Given the description of an element on the screen output the (x, y) to click on. 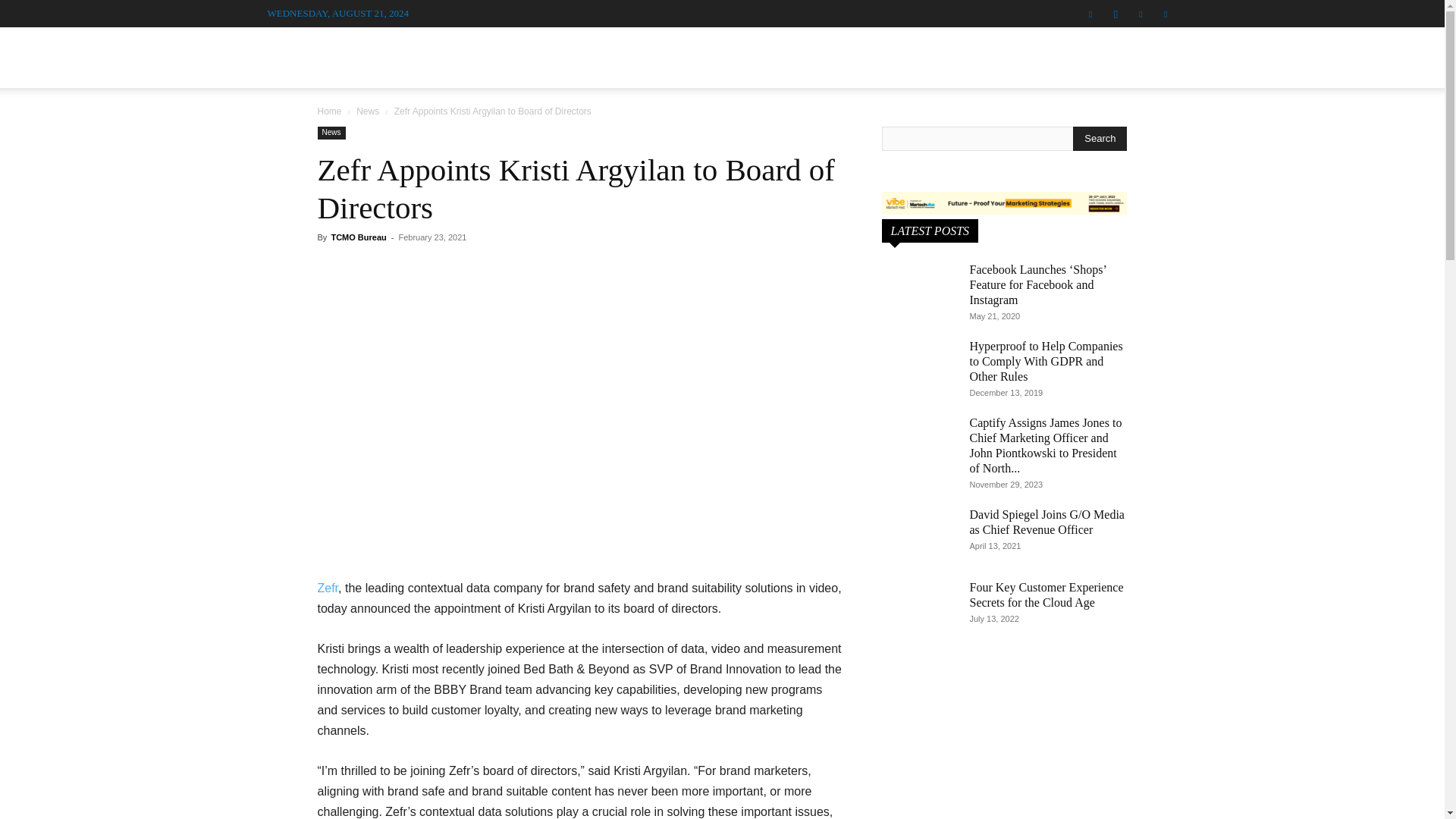
INSIGHTS (993, 53)
ARTICLES (807, 53)
Search (1099, 138)
View all posts in News (367, 111)
PODCASTS (722, 53)
INTERVIEWS (630, 53)
Search (1134, 129)
QUICK BYTES (901, 53)
